Given the description of an element on the screen output the (x, y) to click on. 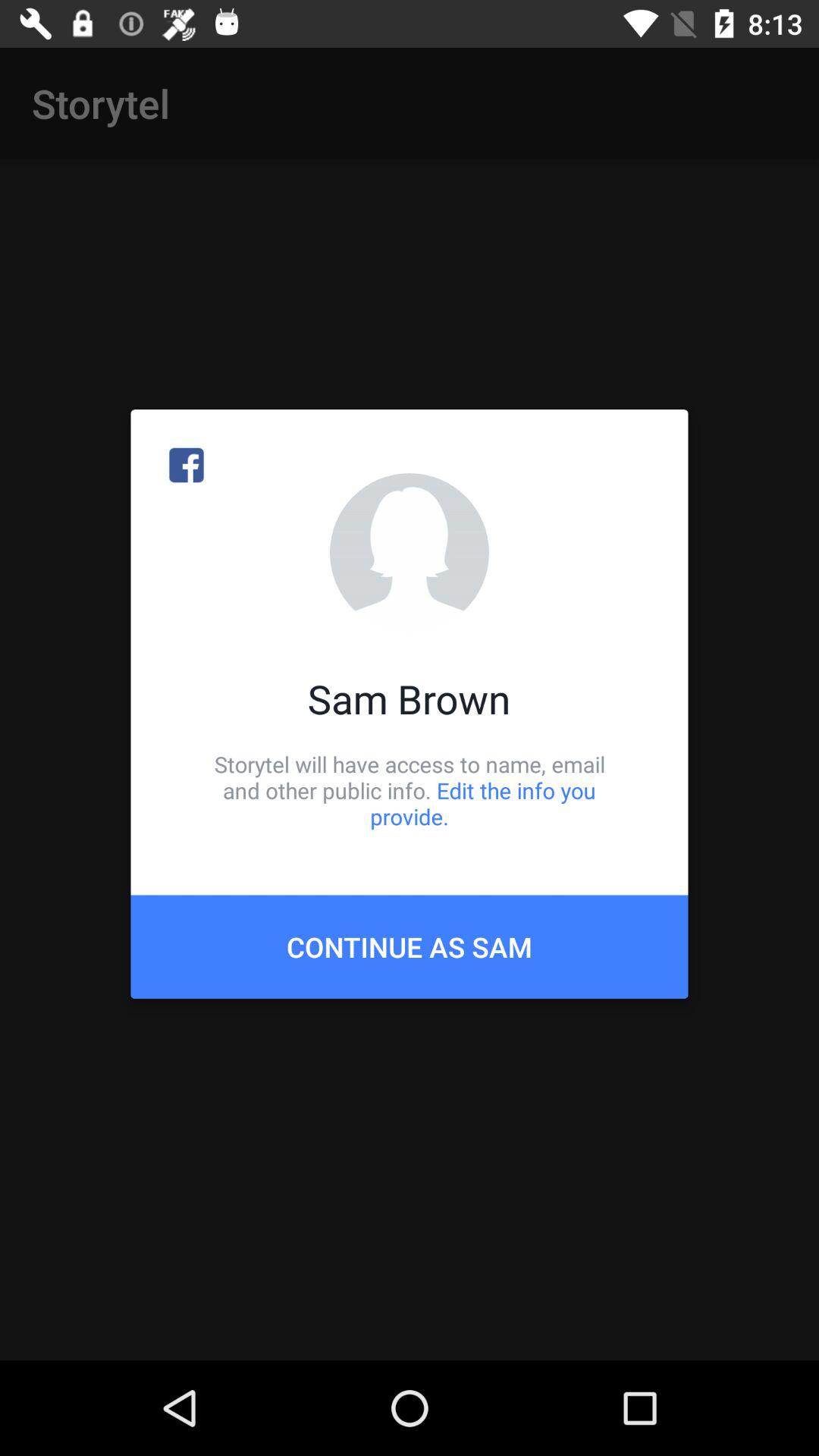
select the continue as sam (409, 946)
